Given the description of an element on the screen output the (x, y) to click on. 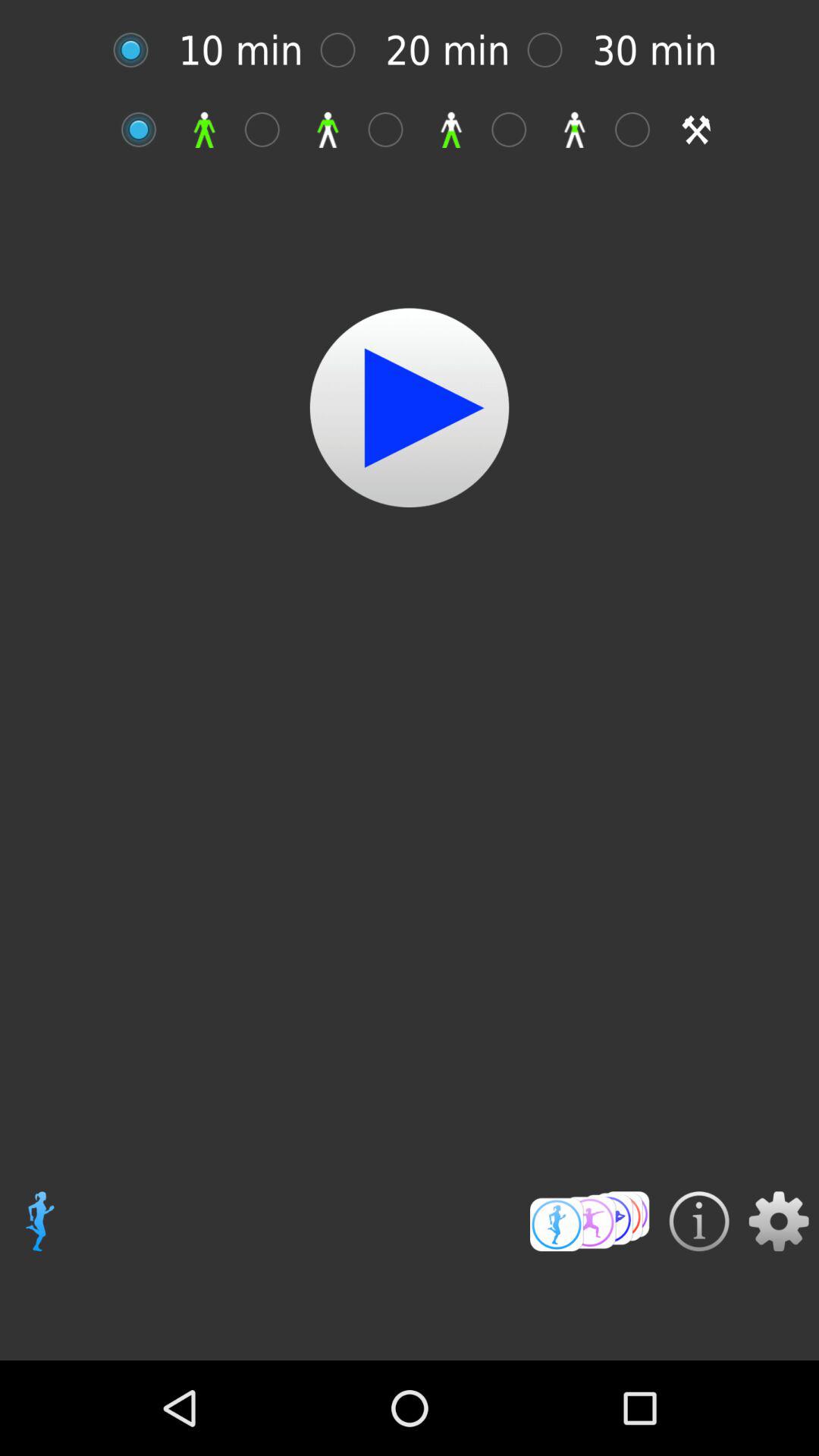
settings (778, 1221)
